Given the description of an element on the screen output the (x, y) to click on. 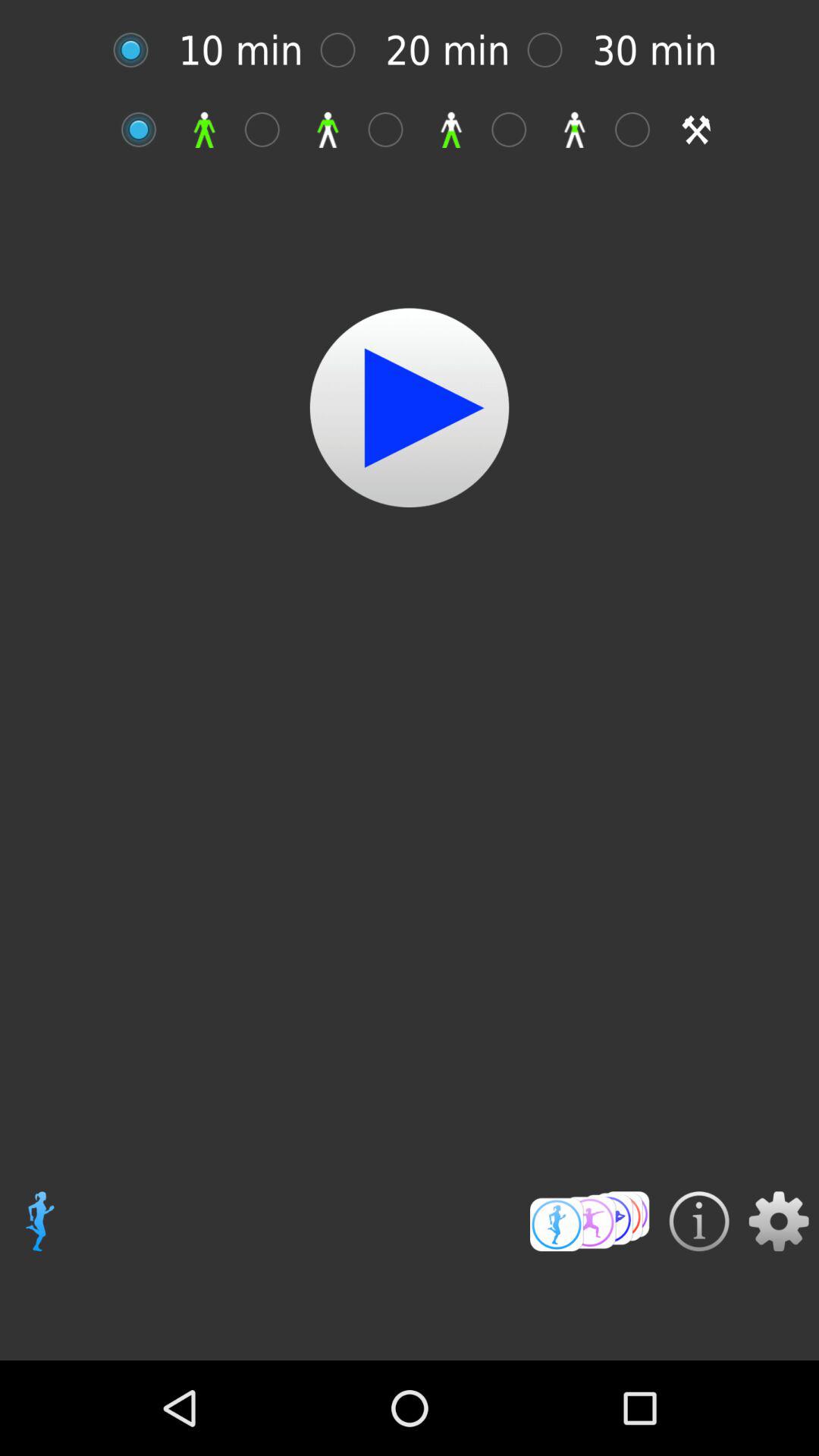
settings (778, 1221)
